Given the description of an element on the screen output the (x, y) to click on. 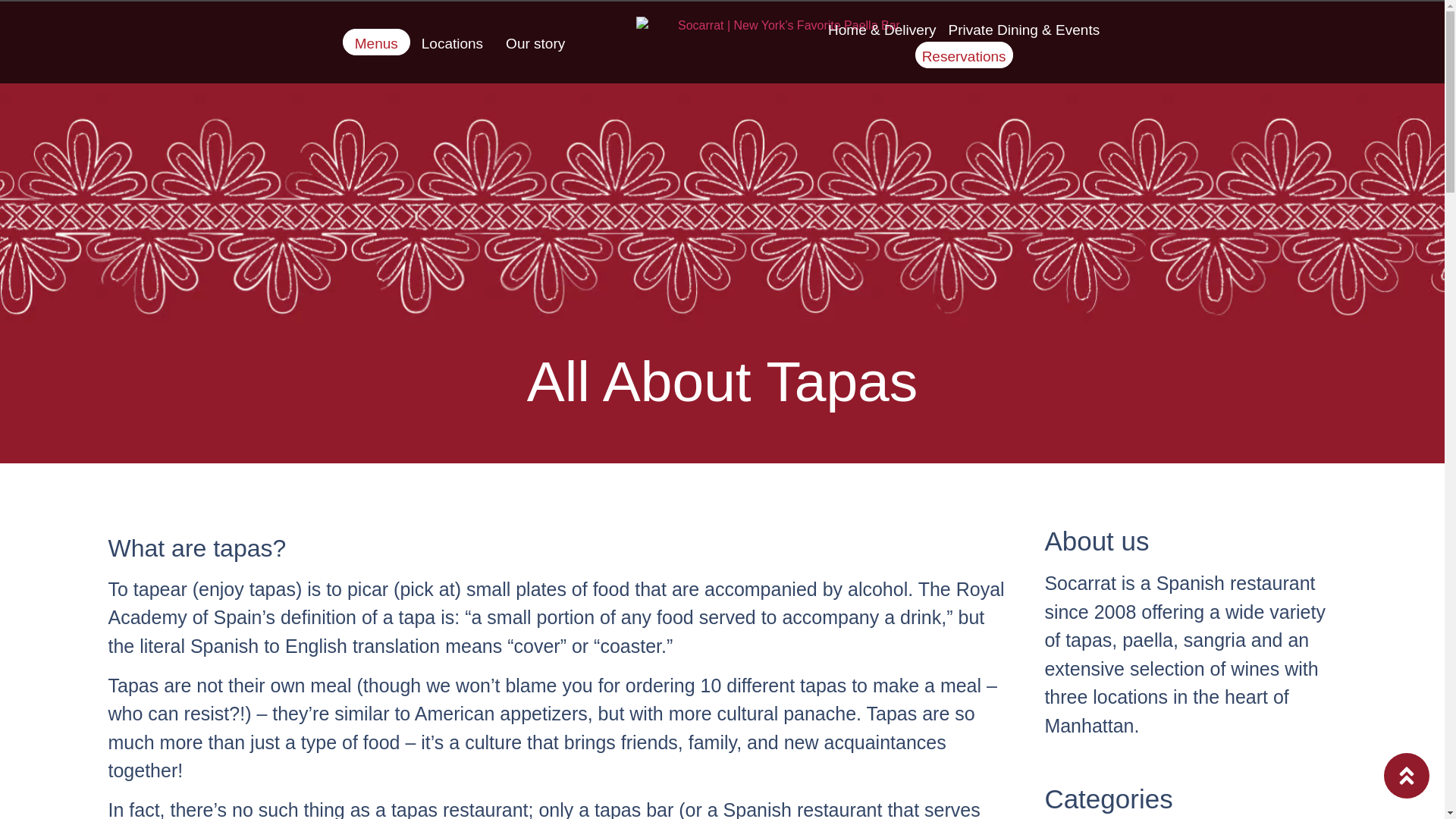
Menus (376, 41)
Our story (535, 41)
Locations (452, 41)
